Given the description of an element on the screen output the (x, y) to click on. 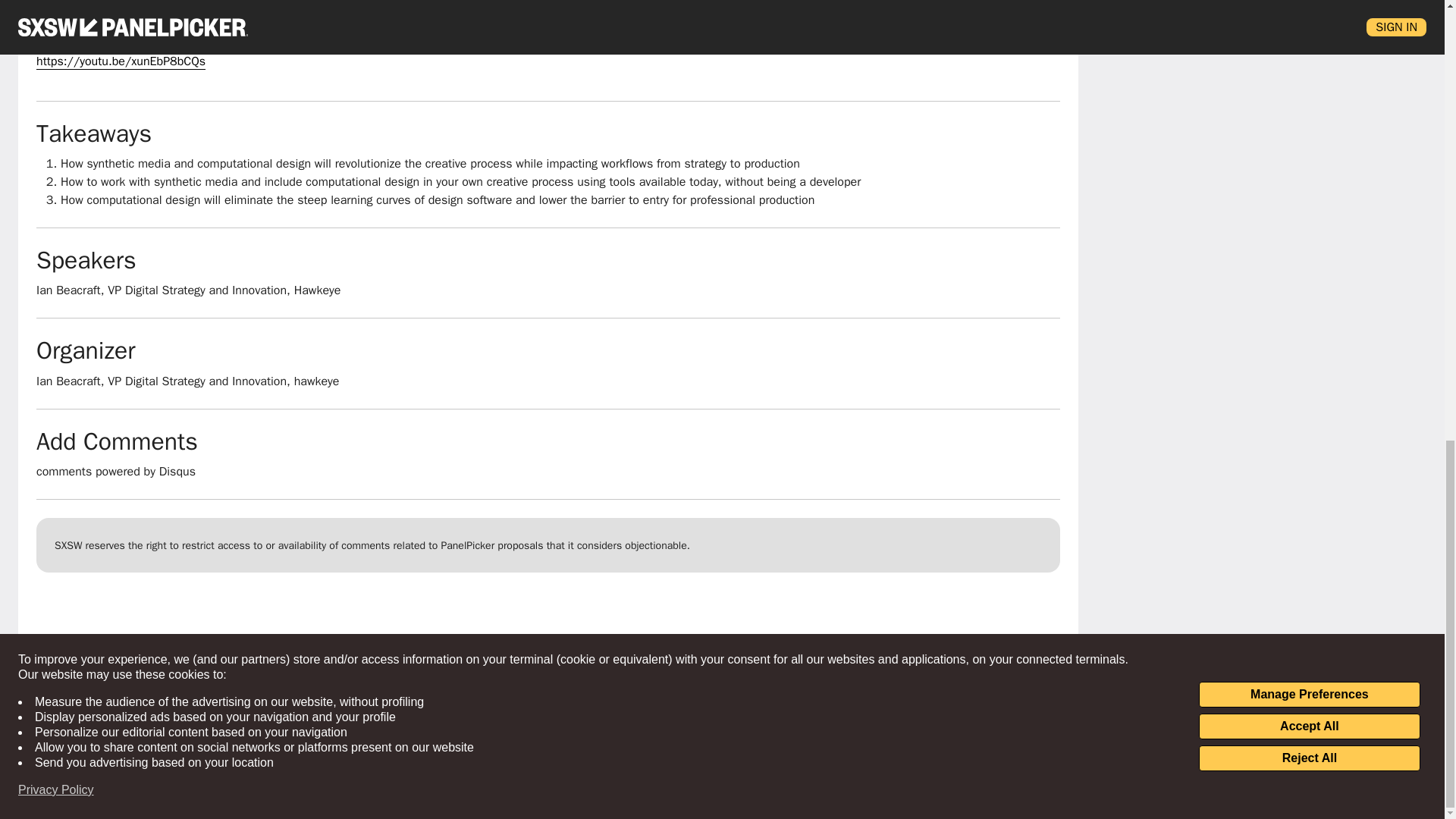
hawkeye (316, 381)
Terms of Use (1131, 697)
comments powered by Disqus (115, 471)
Hawkeye (317, 290)
Contact (1116, 747)
Copyright Notice (1139, 722)
Privacy Policy (1131, 672)
Code of Conduct (1140, 772)
